Given the description of an element on the screen output the (x, y) to click on. 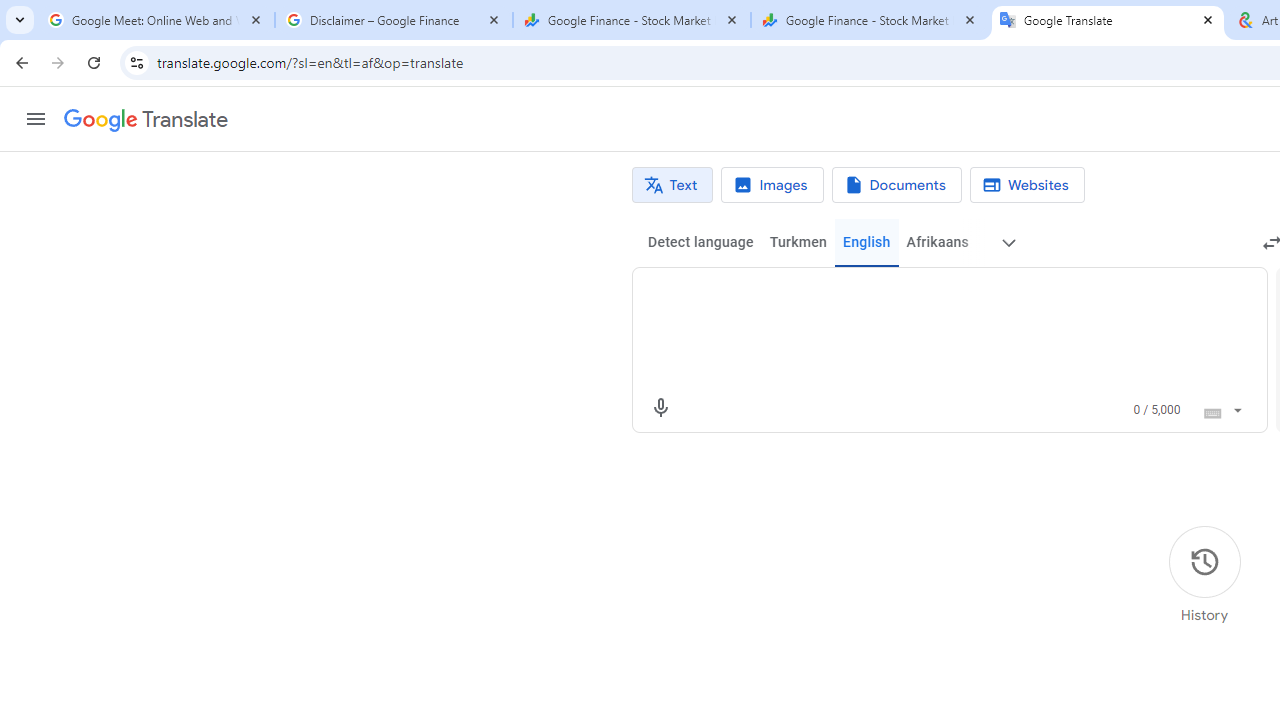
More source languages (1008, 242)
Main menu (35, 119)
History (1204, 575)
Show the Input Tools menu (1236, 407)
Google Translate (145, 120)
Document translation (896, 185)
Translate by voice (660, 407)
Image translation (772, 185)
Google Translate (1108, 20)
Website translation (1026, 185)
